Given the description of an element on the screen output the (x, y) to click on. 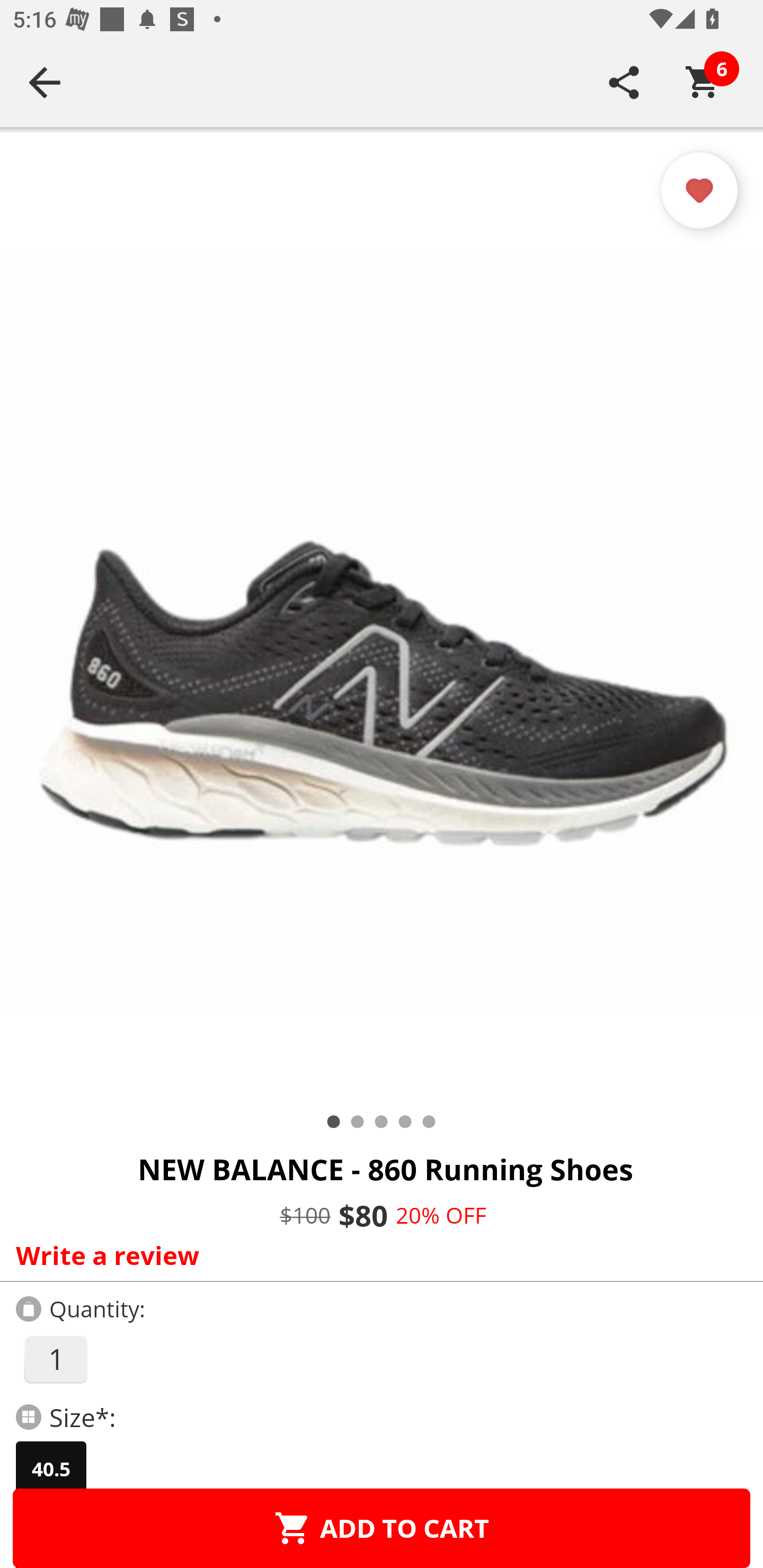
Navigate up (44, 82)
SHARE (623, 82)
Cart (703, 81)
Write a review (377, 1255)
1 (55, 1358)
40.5 (51, 1468)
ADD TO CART (381, 1528)
